Given the description of an element on the screen output the (x, y) to click on. 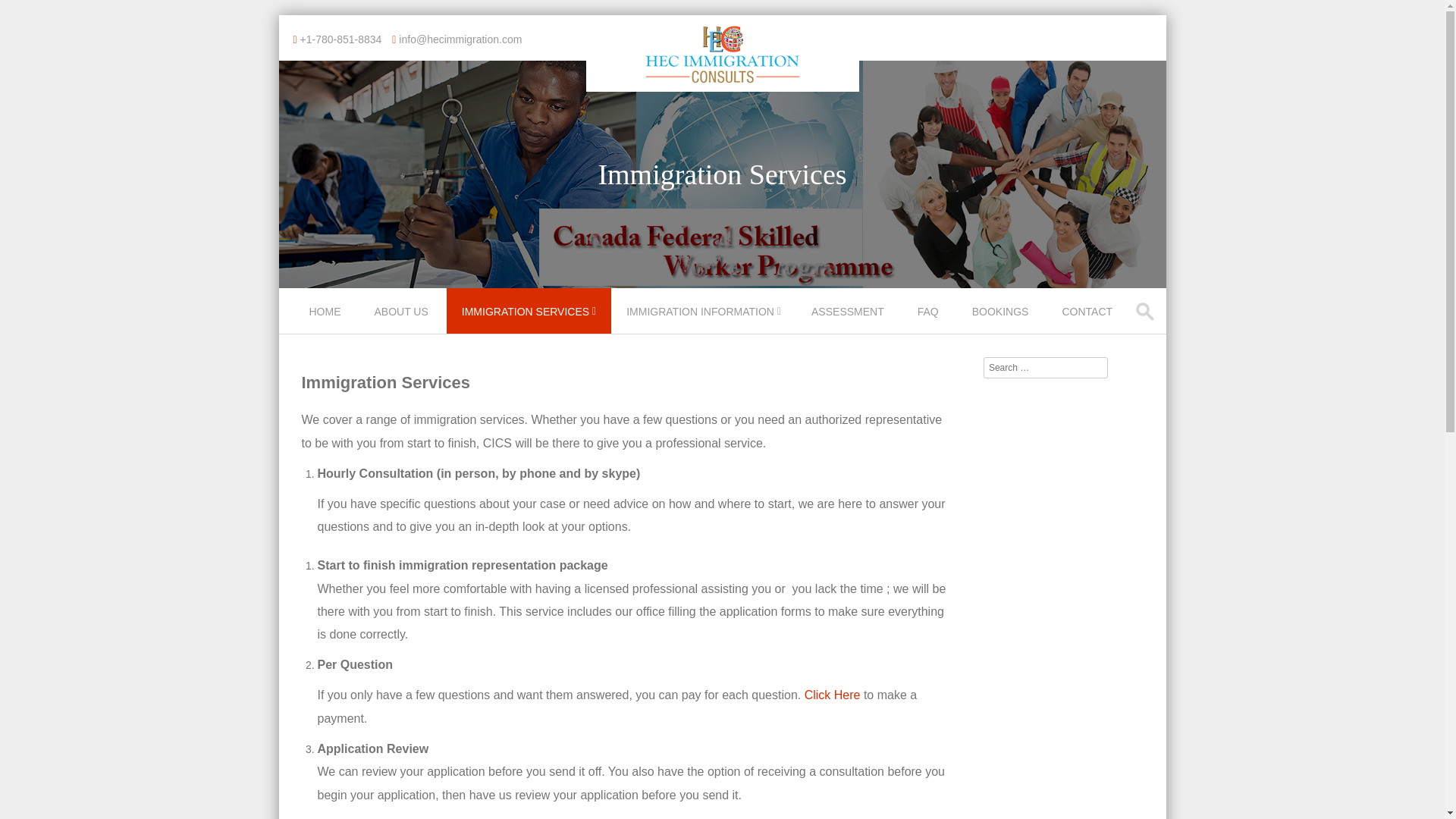
HOME (326, 310)
Navigation Toggle (305, 320)
BOOKINGS (1001, 310)
IMMIGRATION SERVICES (528, 310)
Skip to content (314, 297)
Menu (305, 320)
CONTACT (1088, 310)
ABOUT US (402, 310)
H E C (722, 80)
ASSESSMENT (849, 310)
